Given the description of an element on the screen output the (x, y) to click on. 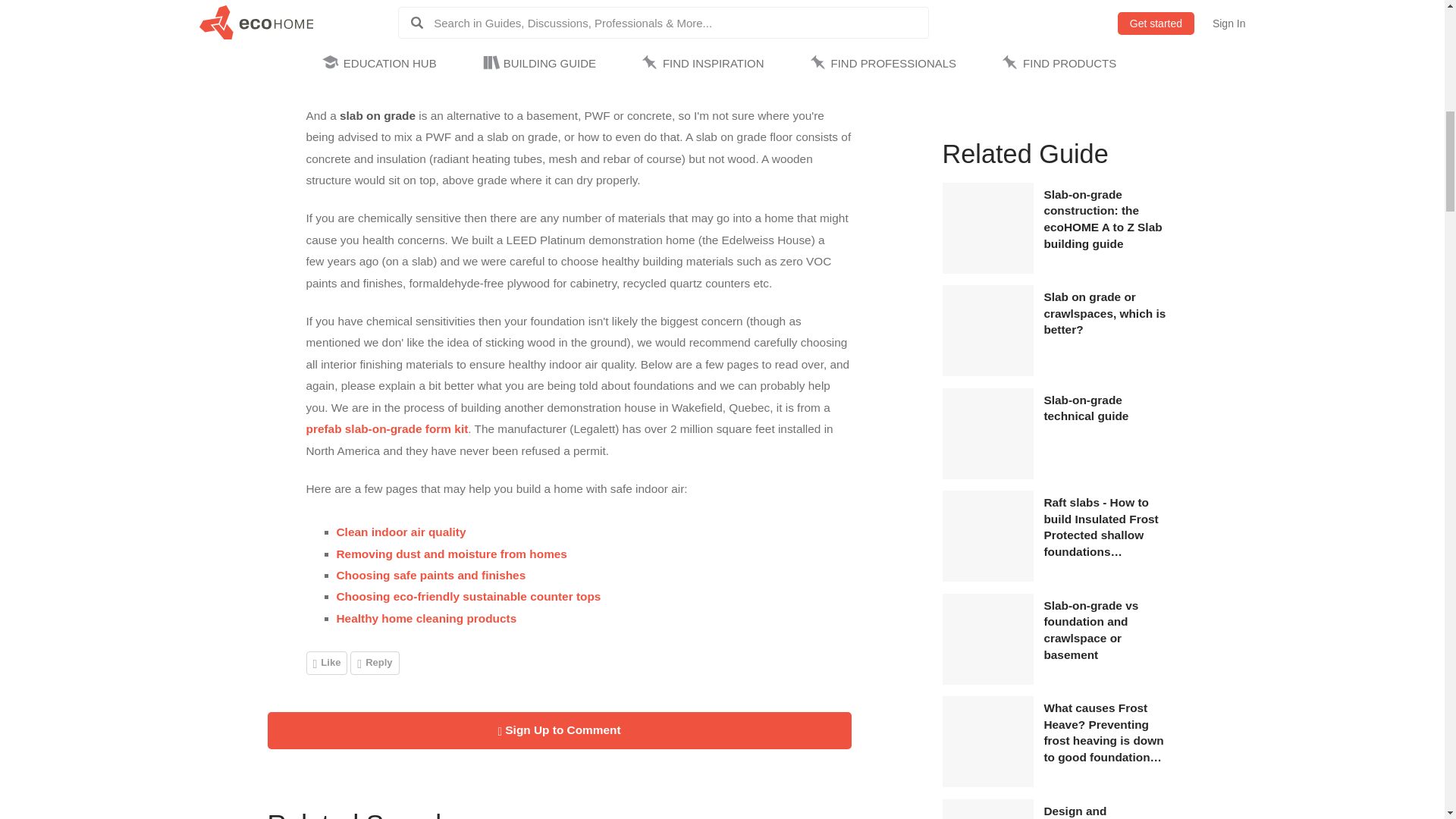
Frost Heave Prevention or How to Stop Frost Heaving (987, 783)
Slab-on-grade vs foundation and crawlspace or basement (1107, 629)
How to build a Slab-on-Grade (987, 475)
Slab on grade or crawlspaces, which is better? (1107, 313)
Frost Protected Shallow Foundations Forms (987, 577)
Slab-on-grade technical guide (1107, 408)
